Given the description of an element on the screen output the (x, y) to click on. 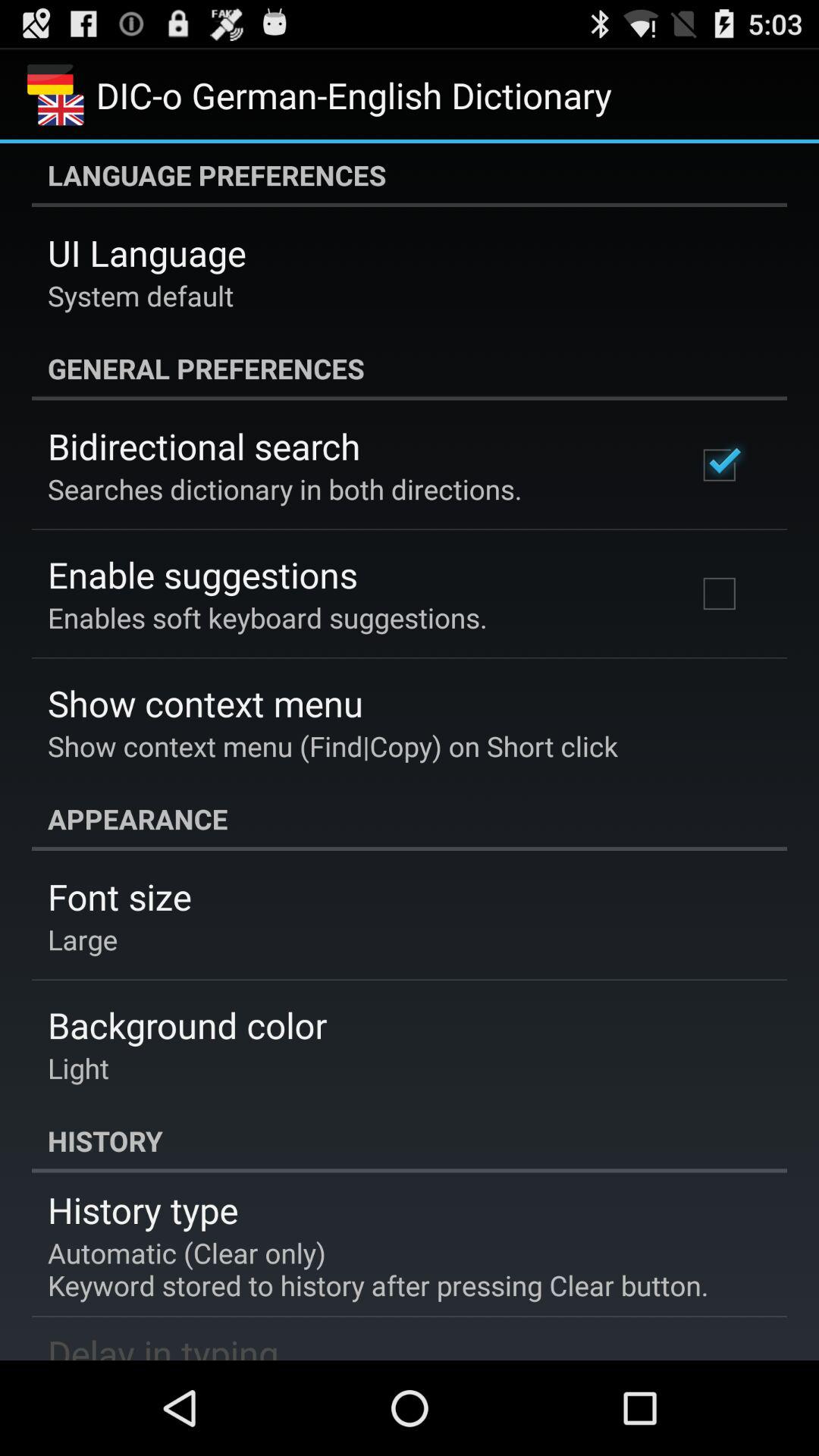
jump until light (78, 1067)
